Given the description of an element on the screen output the (x, y) to click on. 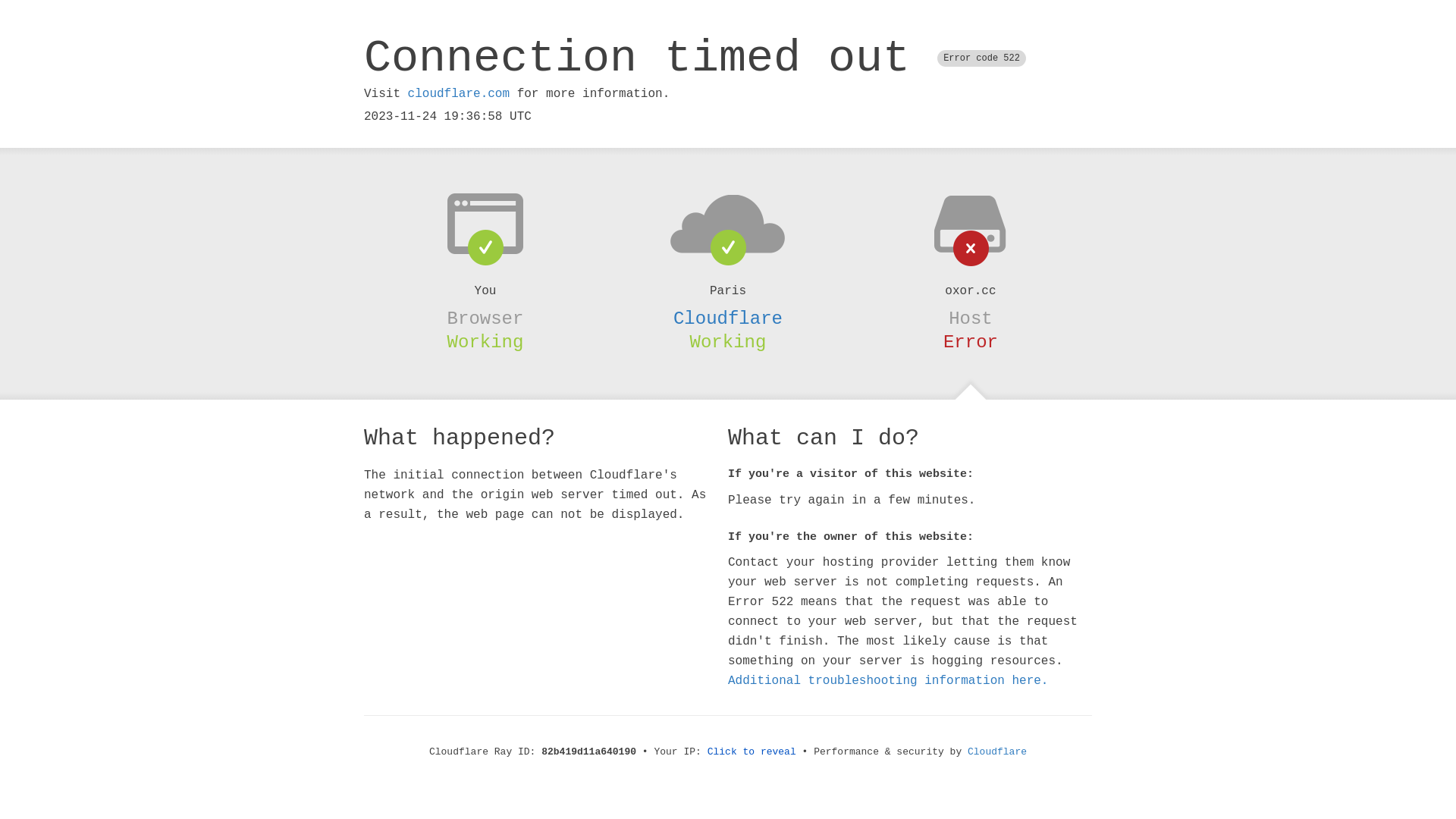
Additional troubleshooting information here. Element type: text (888, 680)
Click to reveal Element type: text (751, 751)
cloudflare.com Element type: text (458, 93)
Cloudflare Element type: text (727, 318)
Cloudflare Element type: text (996, 751)
